Given the description of an element on the screen output the (x, y) to click on. 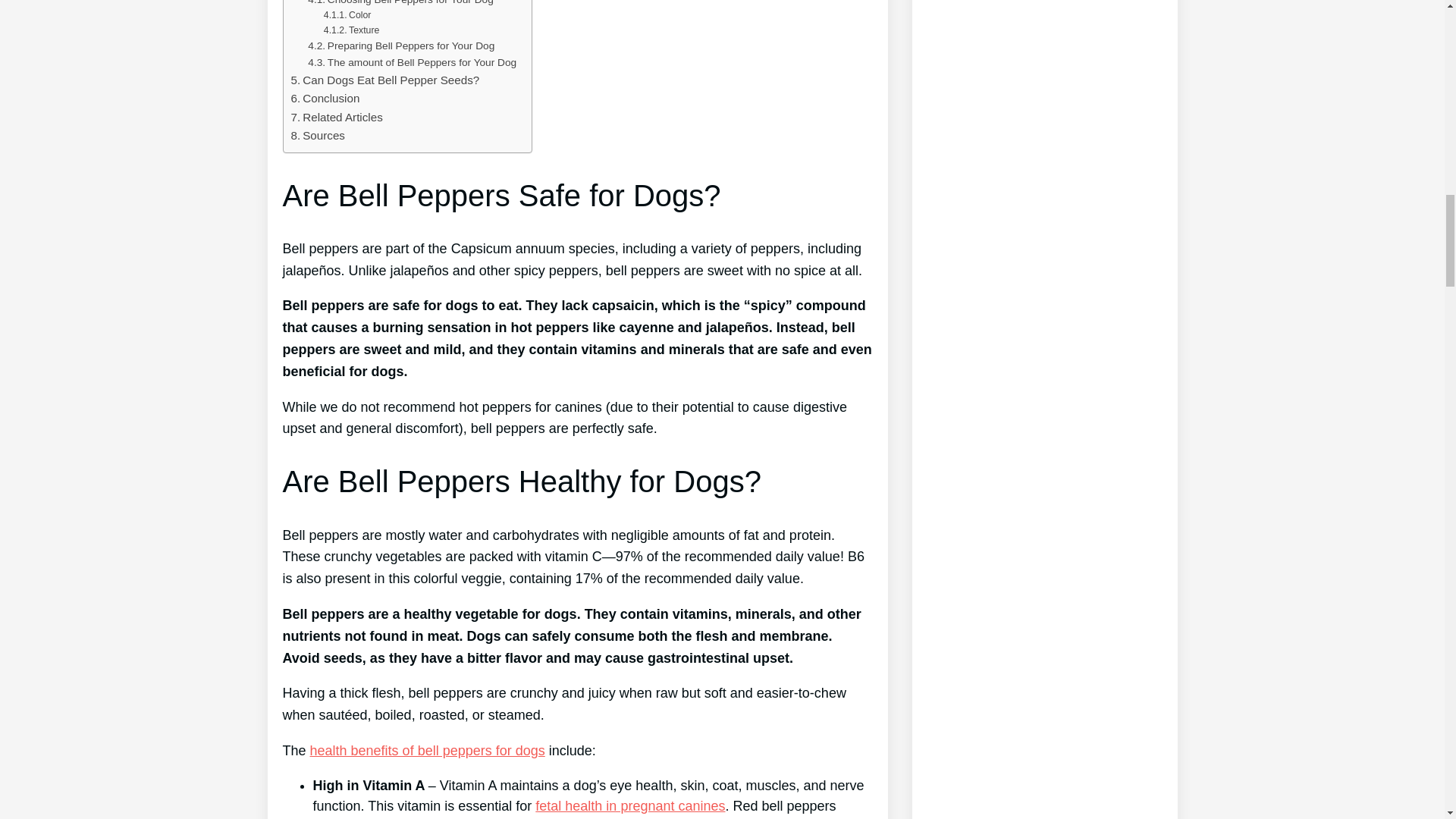
Choosing Bell Peppers for Your Dog (400, 4)
Choosing Bell Peppers for Your Dog (400, 4)
Texture (351, 30)
Color (347, 15)
